Given the description of an element on the screen output the (x, y) to click on. 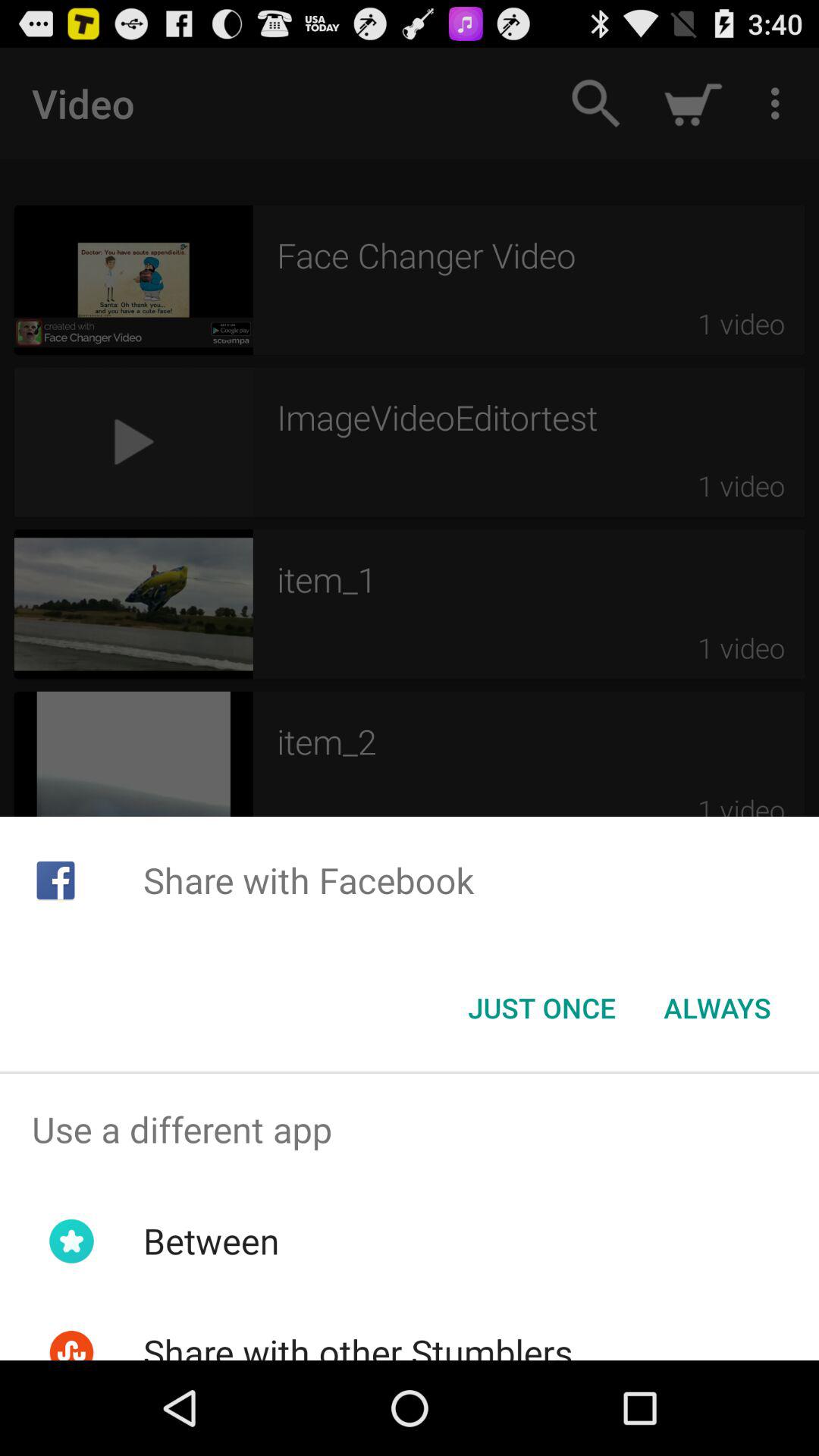
press the app above the between item (409, 1129)
